Given the description of an element on the screen output the (x, y) to click on. 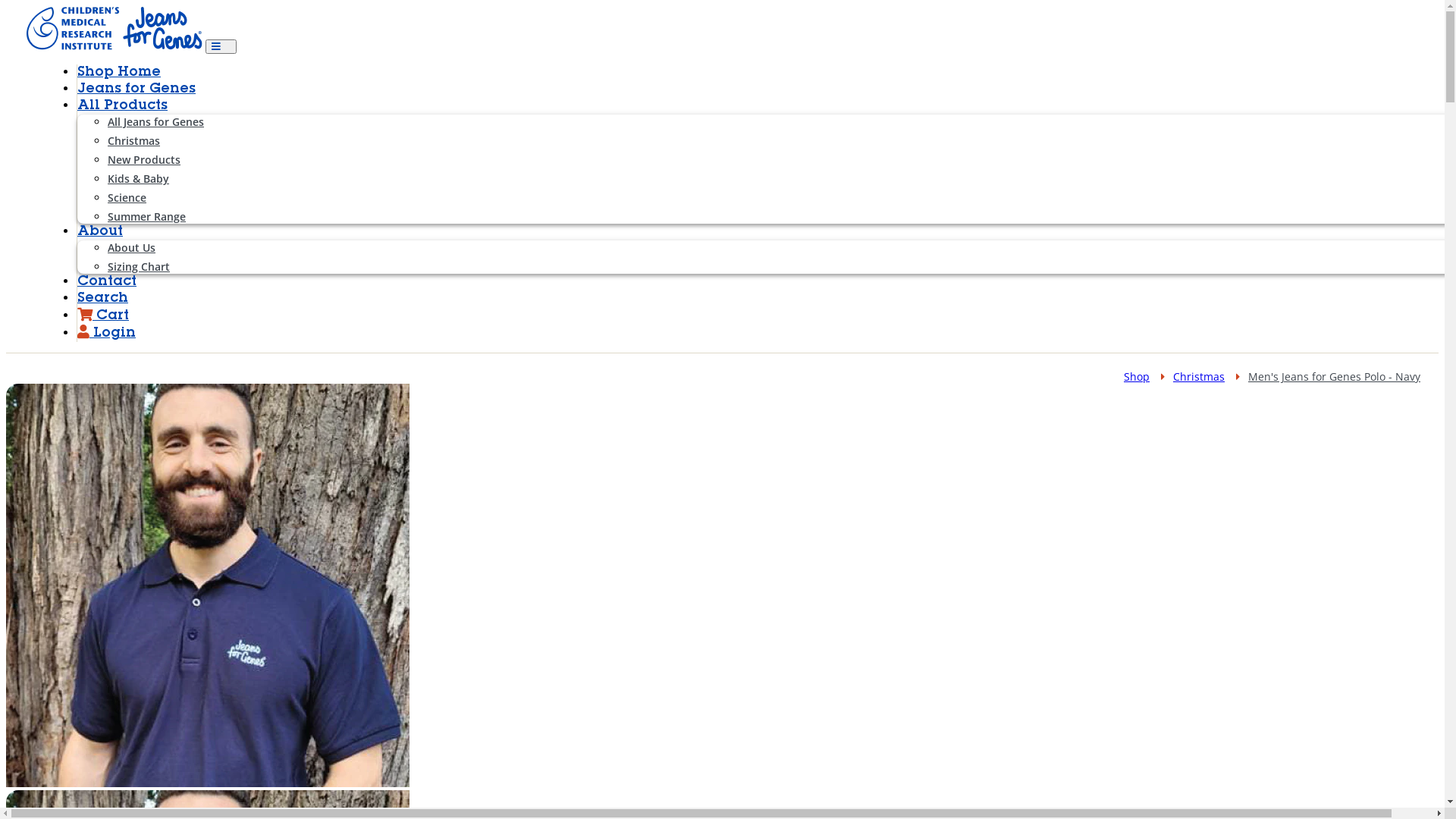
Login Element type: text (106, 333)
New Products Element type: text (162, 159)
Sizing Chart Element type: text (157, 266)
All Jeans for Genes Element type: text (174, 121)
Christmas Element type: text (1198, 376)
Shop Home Element type: text (118, 72)
Search Element type: text (102, 298)
Summer Range Element type: text (165, 216)
Cart Element type: text (102, 315)
Kids & Baby Element type: text (157, 178)
Contact Element type: text (106, 281)
Science Element type: text (145, 197)
All Products Element type: text (122, 105)
Christmas Element type: text (152, 140)
About Us Element type: text (150, 247)
Men's Jeans for Genes Polo - Navy Element type: text (1334, 376)
Shop Element type: text (1136, 376)
Jeans for Genes Element type: text (136, 89)
About Element type: text (99, 231)
